Given the description of an element on the screen output the (x, y) to click on. 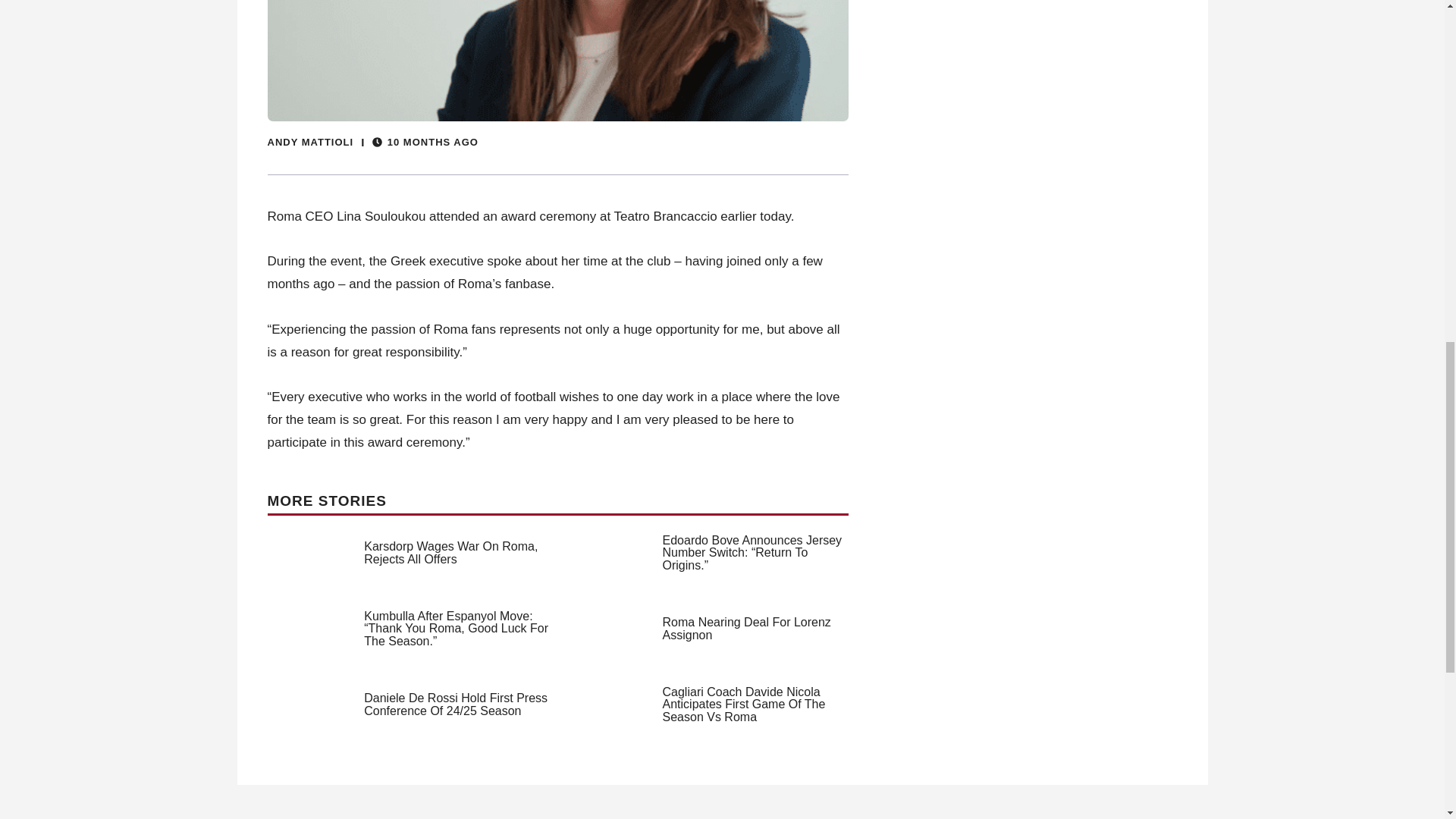
Karsdorp Wages War On Roma, Rejects All Offers (450, 552)
Roma Nearing Deal For Lorenz Assignon (746, 628)
